Given the description of an element on the screen output the (x, y) to click on. 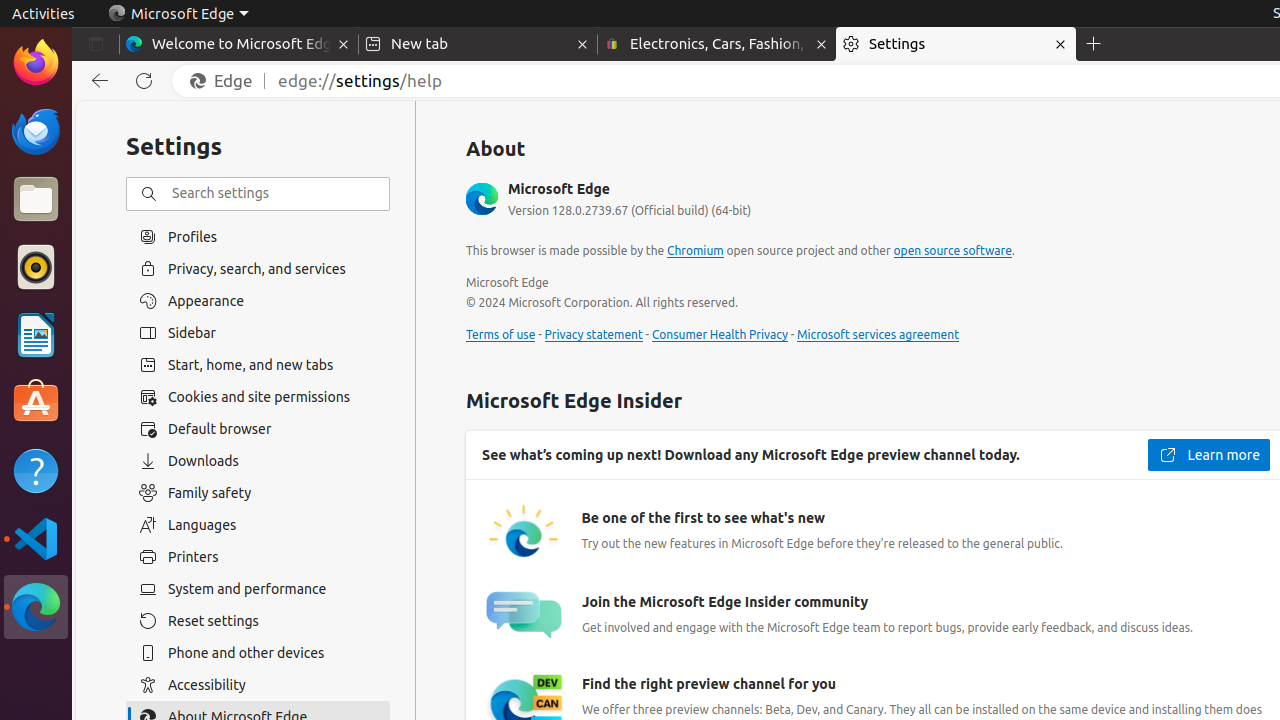
Thunderbird Mail Element type: push-button (36, 131)
Languages Element type: tree-item (258, 525)
Privacy statement Element type: link (593, 335)
LibreOffice Writer Element type: push-button (36, 334)
Cookies and site permissions Element type: tree-item (258, 397)
